Given the description of an element on the screen output the (x, y) to click on. 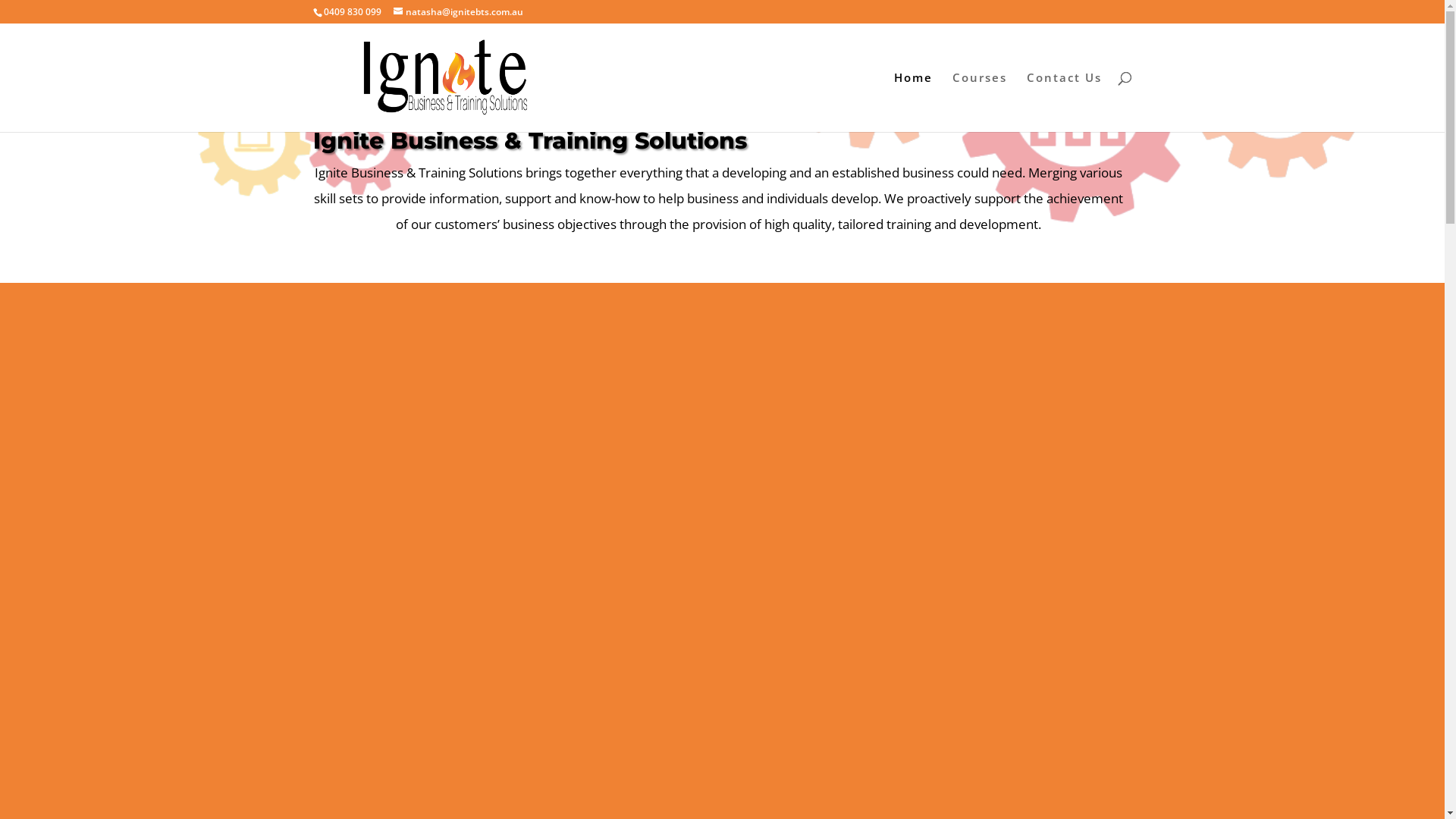
Home Element type: text (912, 101)
Contact Us Element type: text (1063, 101)
natasha@ignitebts.com.au Element type: text (457, 11)
Courses Element type: text (979, 101)
